Given the description of an element on the screen output the (x, y) to click on. 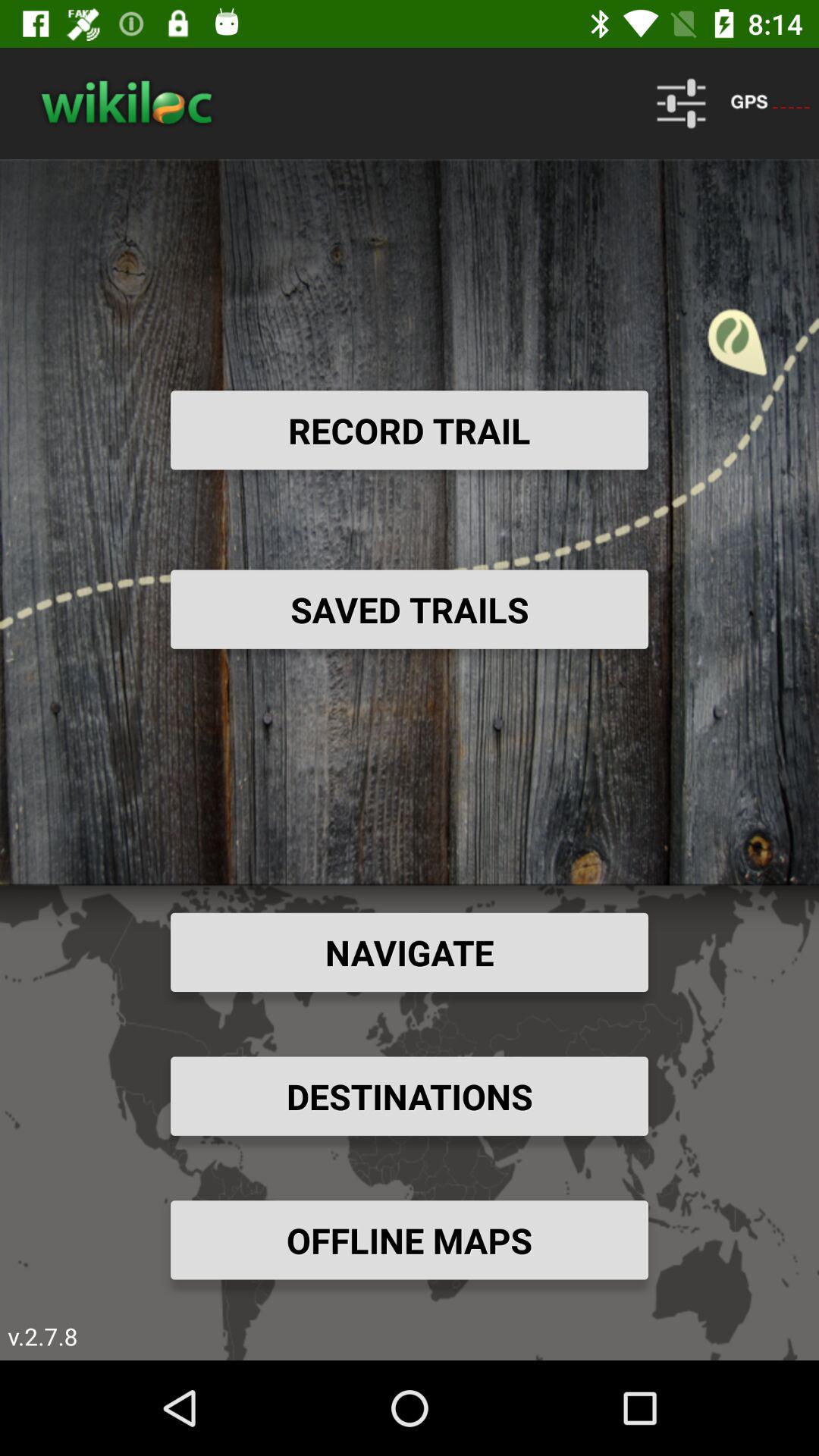
scroll until record trail icon (409, 429)
